Given the description of an element on the screen output the (x, y) to click on. 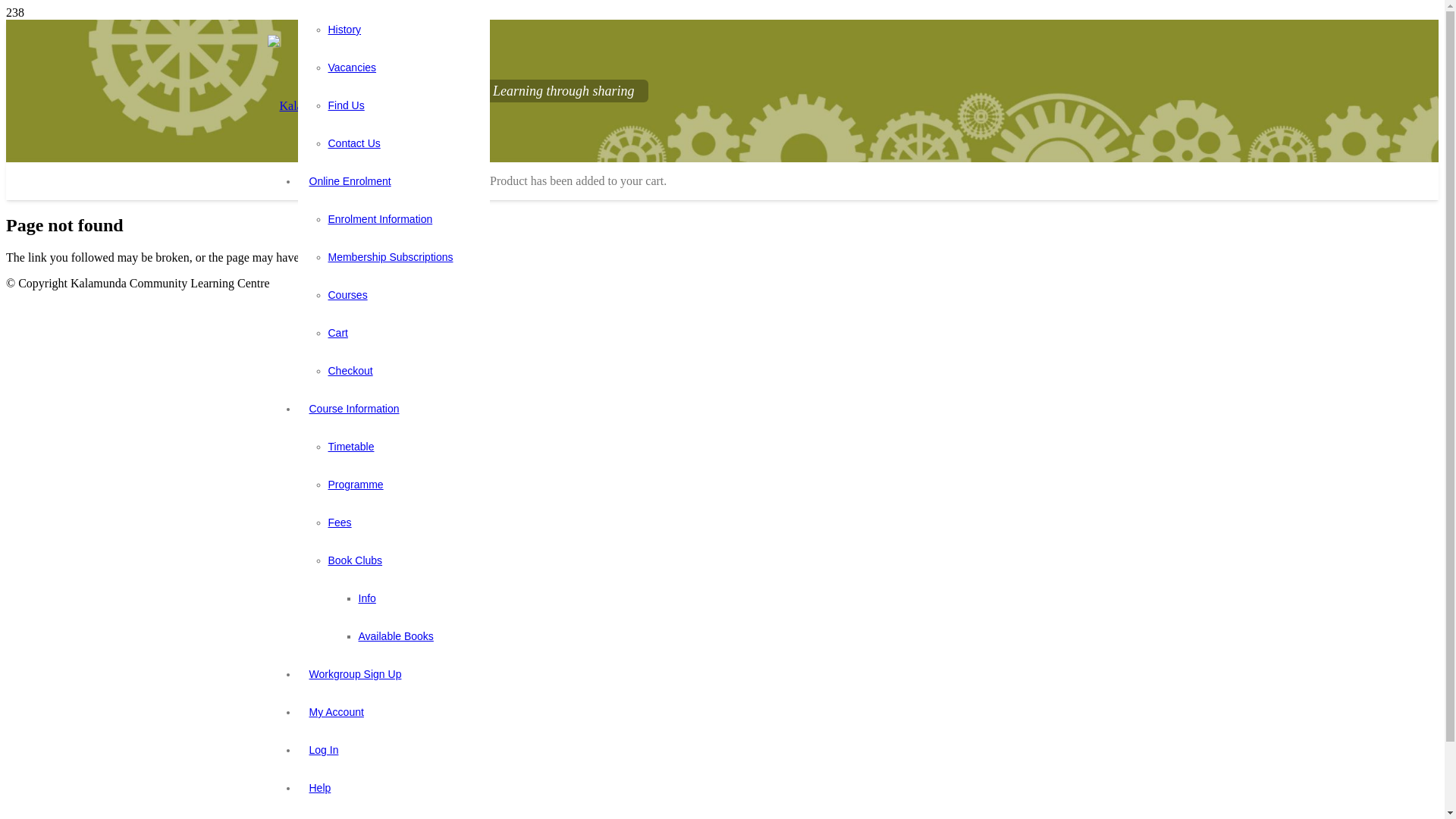
Contact Us Element type: text (353, 143)
Vacancies Element type: text (351, 67)
Cart Element type: text (337, 332)
Membership Subscriptions Element type: text (389, 257)
Fees Element type: text (339, 522)
Workgroup Sign Up Element type: text (354, 674)
Programme Element type: text (354, 484)
Courses Element type: text (347, 294)
My Account Element type: text (335, 712)
Log In Element type: text (323, 749)
Enrolment Information Element type: text (379, 219)
Timetable Element type: text (350, 446)
Info Element type: text (366, 598)
Book Clubs Element type: text (354, 560)
Available Books Element type: text (395, 636)
Checkout Element type: text (349, 370)
Help Element type: text (319, 787)
Find Us Element type: text (345, 105)
Online Enrolment Element type: text (349, 181)
Course Information Element type: text (353, 408)
History Element type: text (343, 29)
